Given the description of an element on the screen output the (x, y) to click on. 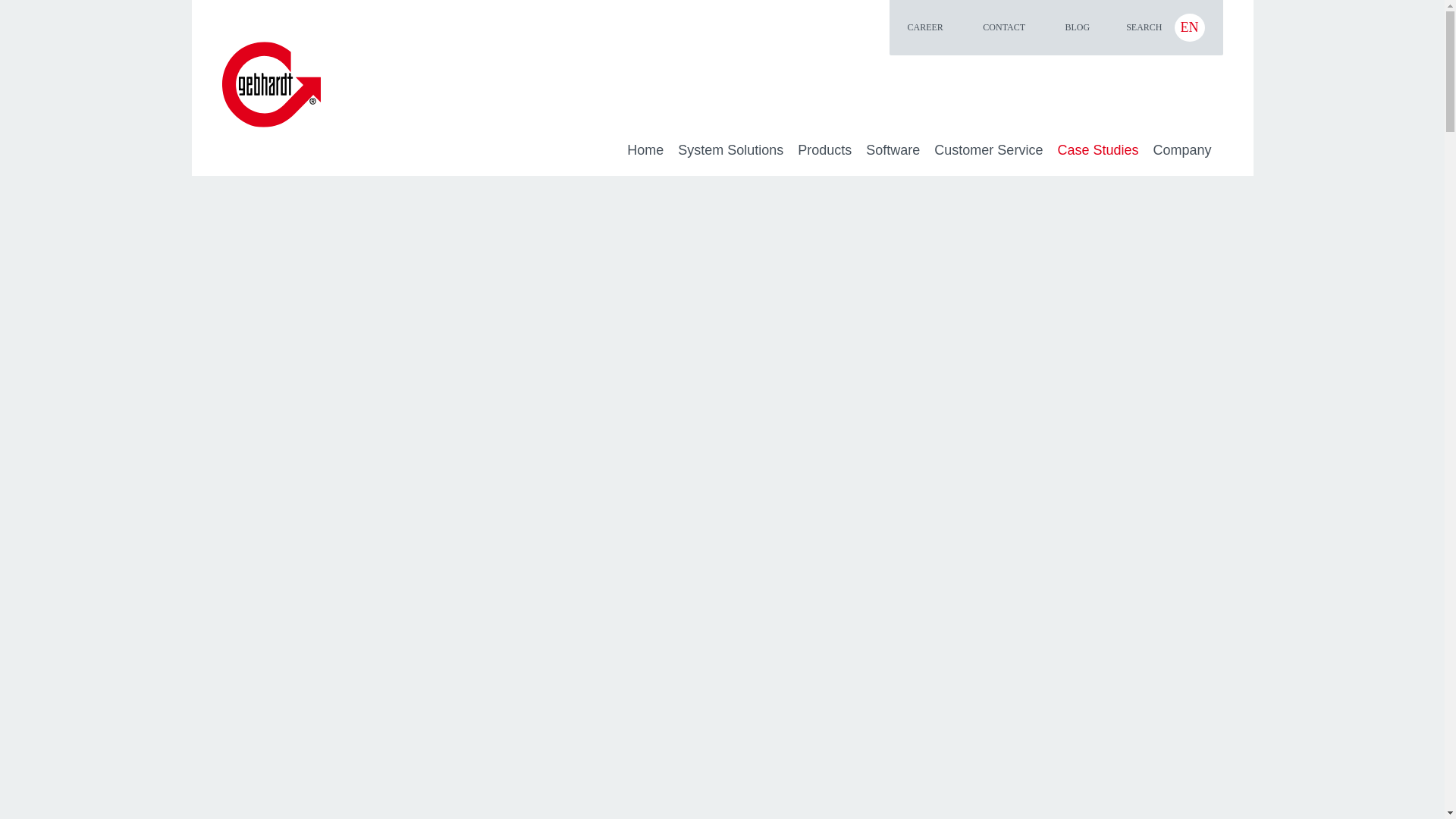
CAREER (924, 27)
System Solutions (730, 150)
GEBHARDT Intralogistics Group (645, 150)
EN (1188, 27)
CONTACT (1003, 27)
Home (645, 150)
Blog (1077, 27)
Contact (1003, 27)
Career (924, 27)
BLOG (1077, 27)
